Given the description of an element on the screen output the (x, y) to click on. 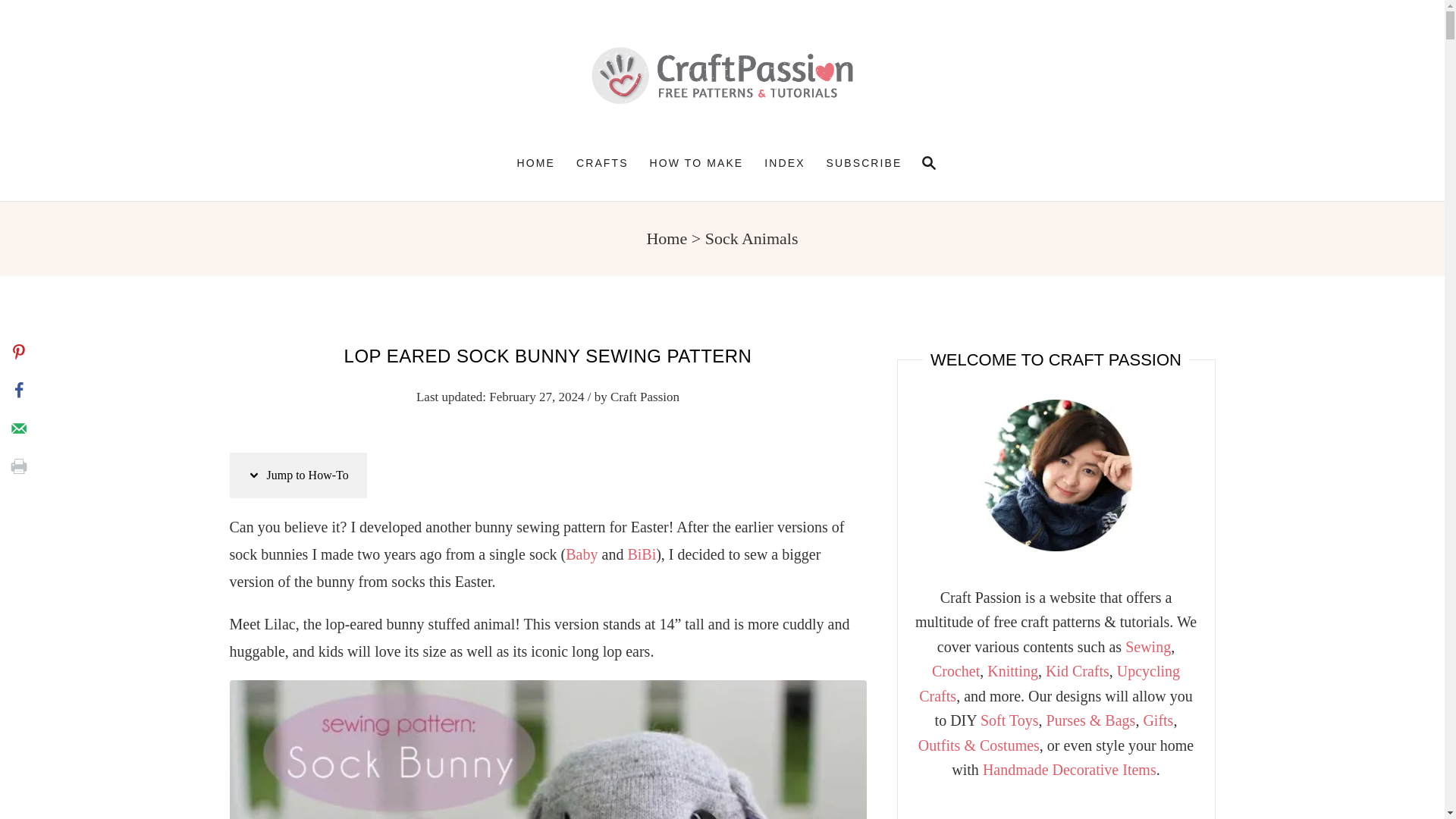
Home (666, 238)
CRAFTS (602, 162)
Baby (581, 554)
BiBi (641, 554)
long ear sock bunny 1200 (547, 749)
Craft Passion (721, 75)
Craft Passion (644, 396)
HOME (536, 162)
Sock Animals (750, 238)
INDEX (784, 162)
SUBSCRIBE (863, 162)
Magnifying Glass (928, 162)
Jump to How-To (297, 474)
HOW TO MAKE (924, 162)
